Given the description of an element on the screen output the (x, y) to click on. 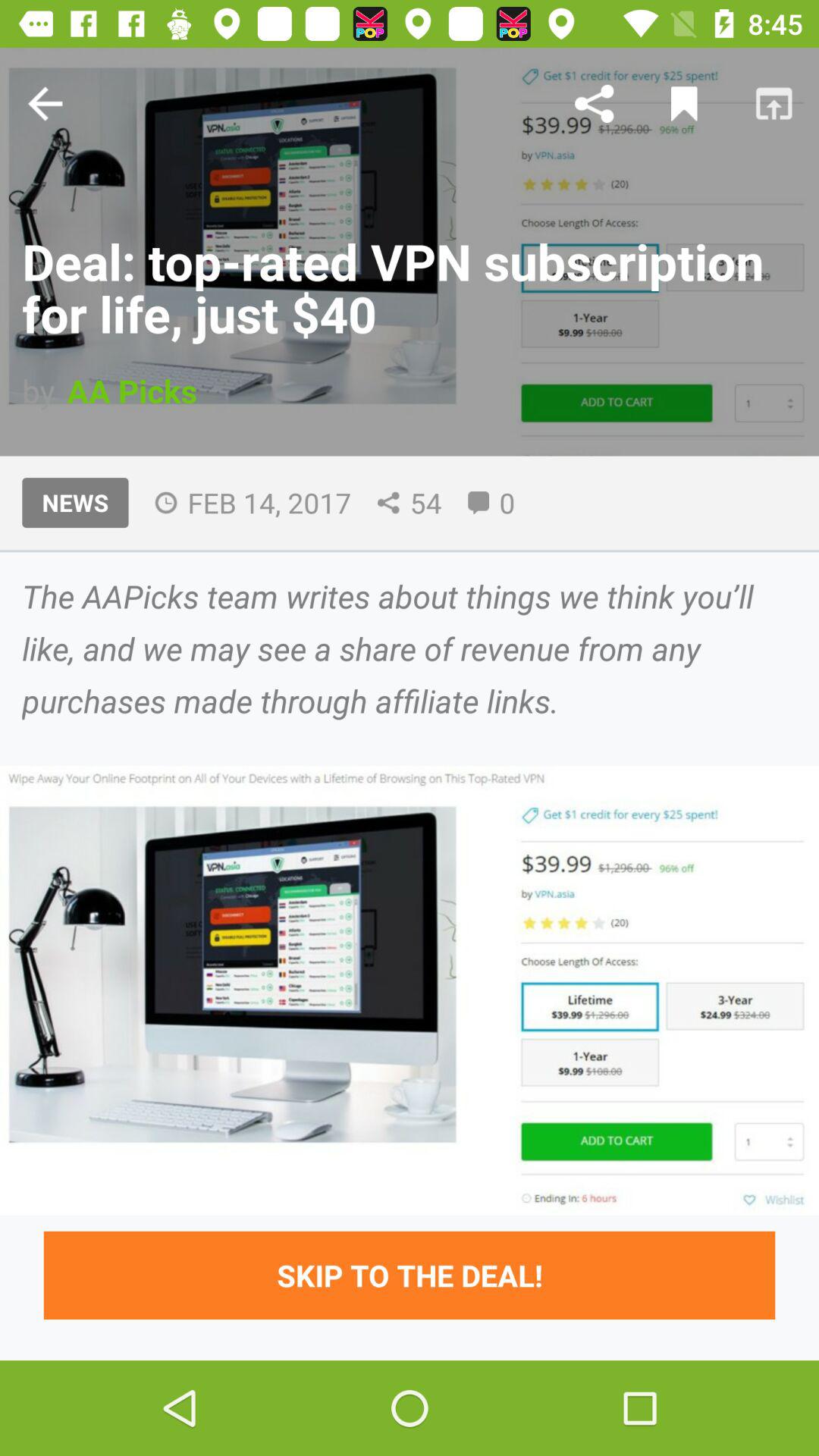
bookmark this page (684, 103)
